Given the description of an element on the screen output the (x, y) to click on. 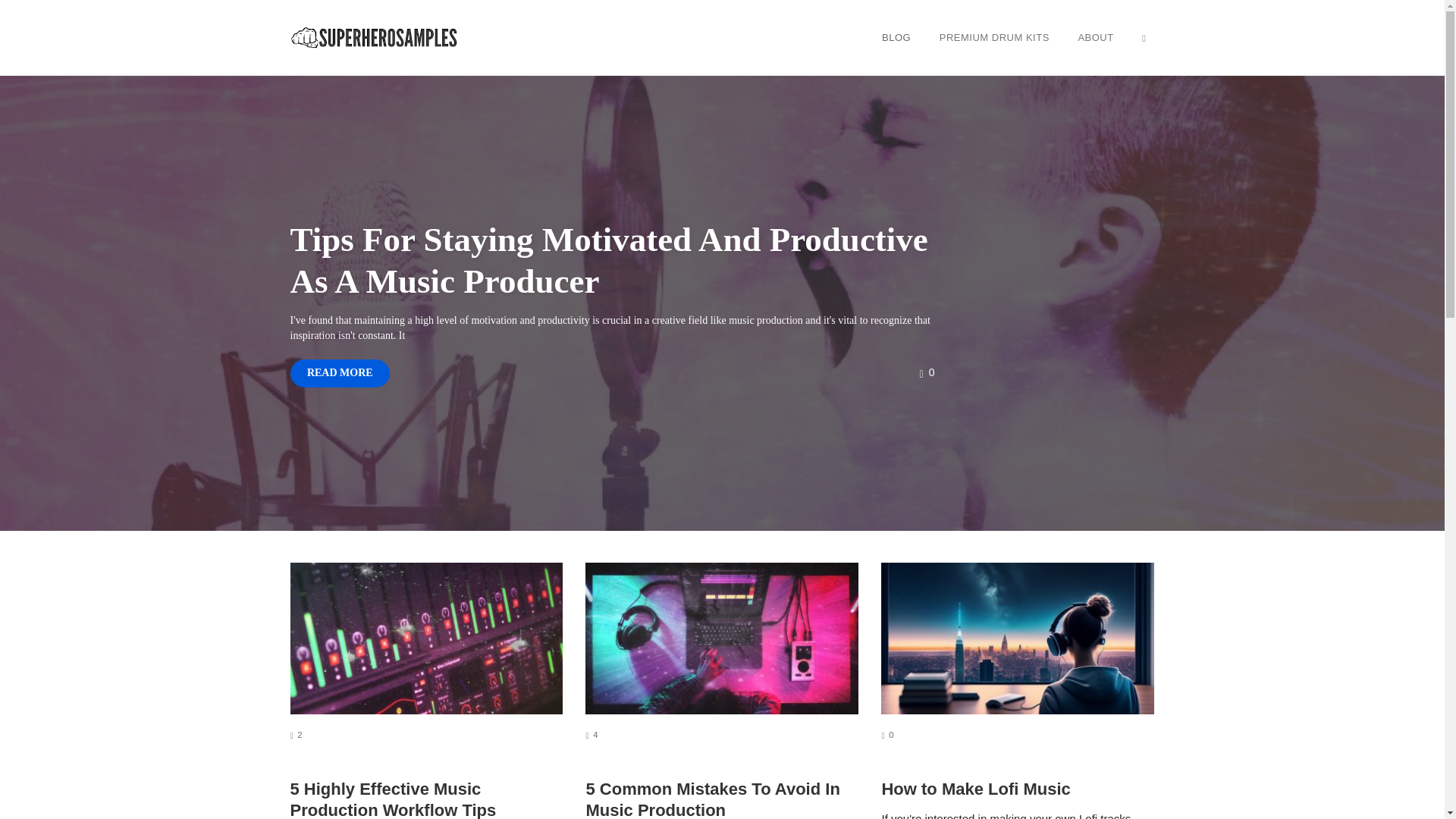
ABOUT (1094, 37)
READ MORE (886, 734)
5 Highly Effective Music Production Workflow Tips (339, 373)
5 Common Mistakes To Avoid In Music Production (392, 799)
OPEN SEARCH FORM (712, 799)
0 (1144, 37)
How to Make Lofi Music (927, 372)
BLOG (975, 788)
